Given the description of an element on the screen output the (x, y) to click on. 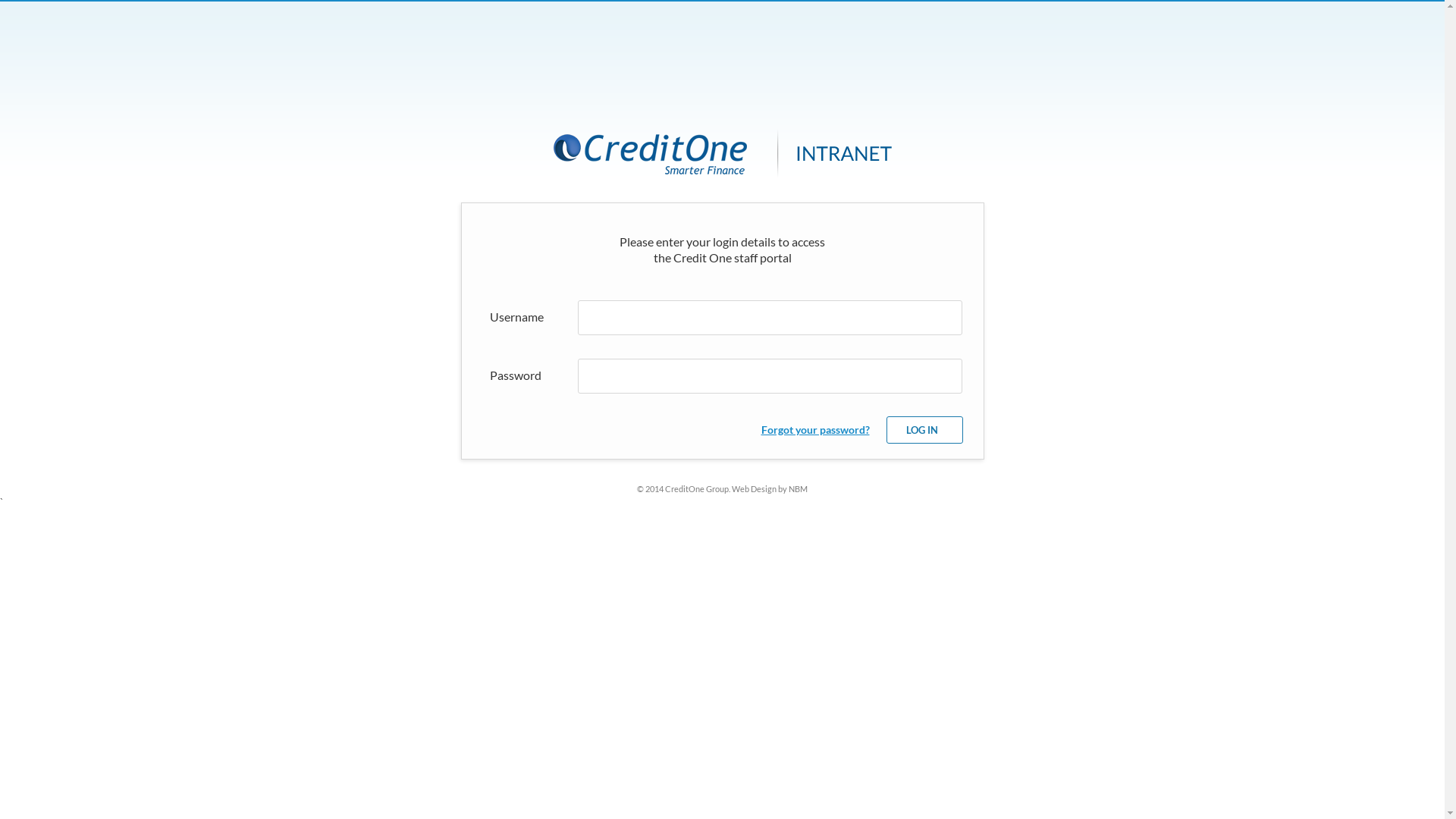
LOG IN Element type: text (923, 428)
Forgot your password? Element type: text (815, 429)
Web Design by NBM Element type: text (769, 488)
